Given the description of an element on the screen output the (x, y) to click on. 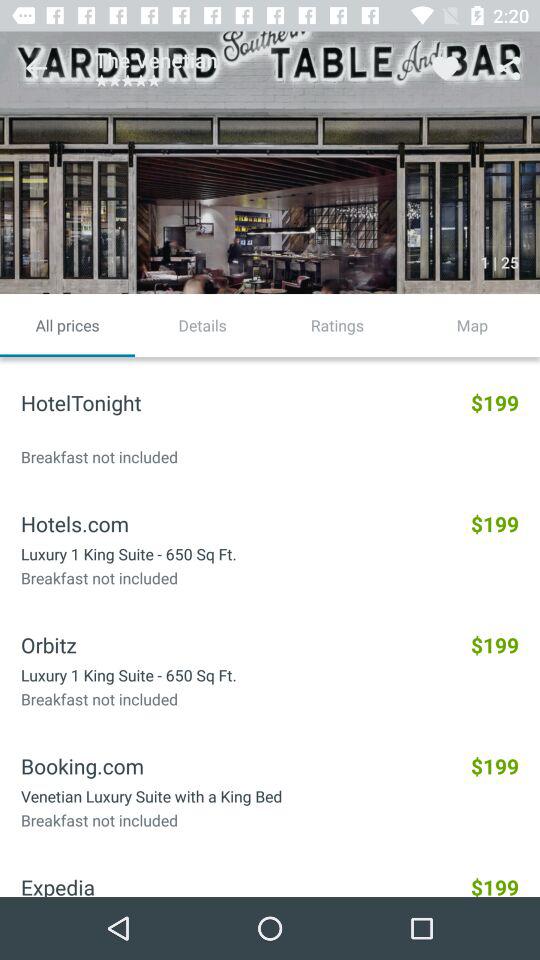
select icon to the right of details item (337, 325)
